Given the description of an element on the screen output the (x, y) to click on. 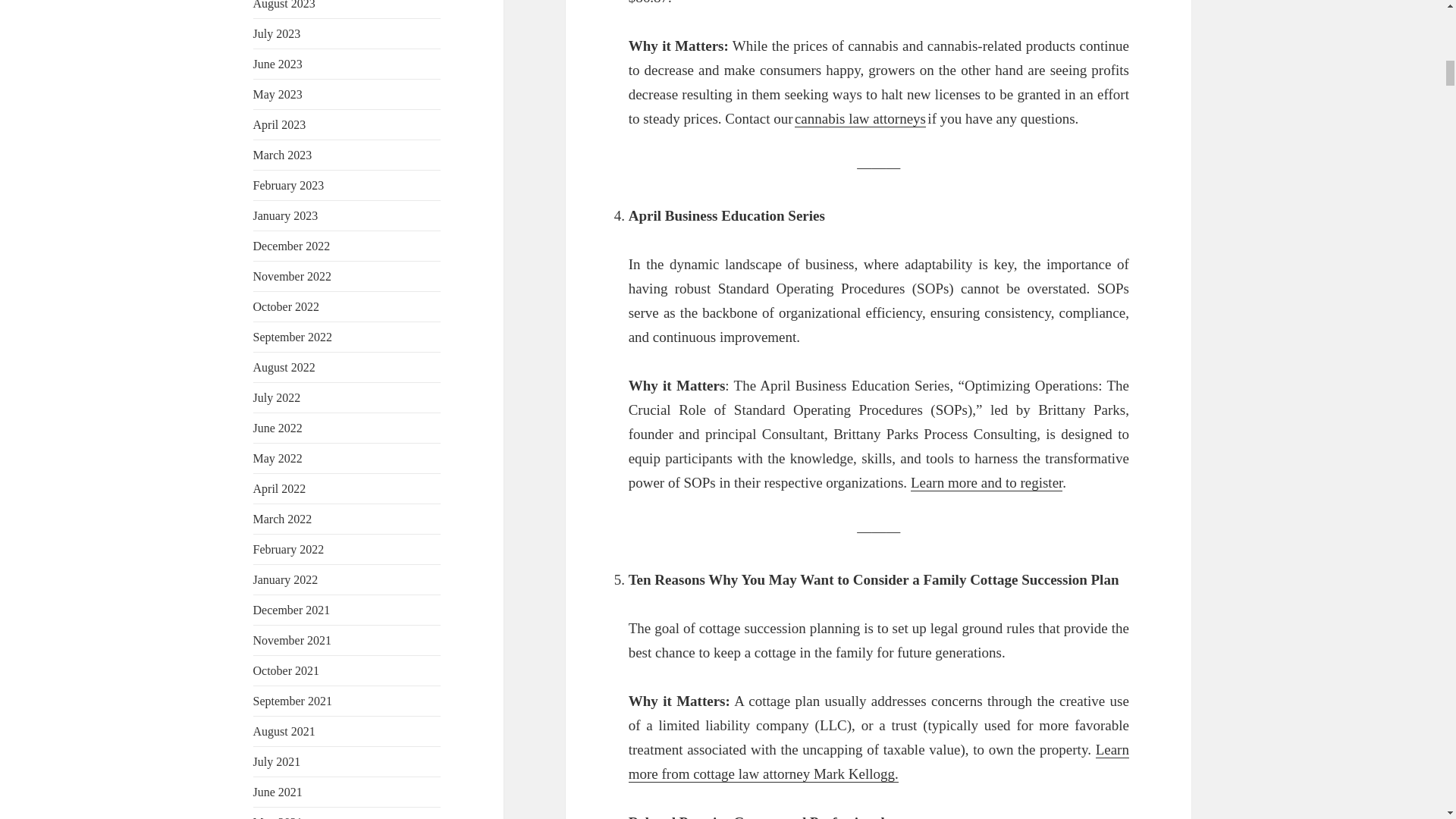
August 2023 (284, 4)
February 2023 (288, 185)
July 2023 (277, 33)
May 2023 (277, 93)
December 2022 (291, 245)
June 2023 (277, 63)
April 2023 (279, 124)
January 2023 (285, 215)
March 2023 (283, 154)
